Given the description of an element on the screen output the (x, y) to click on. 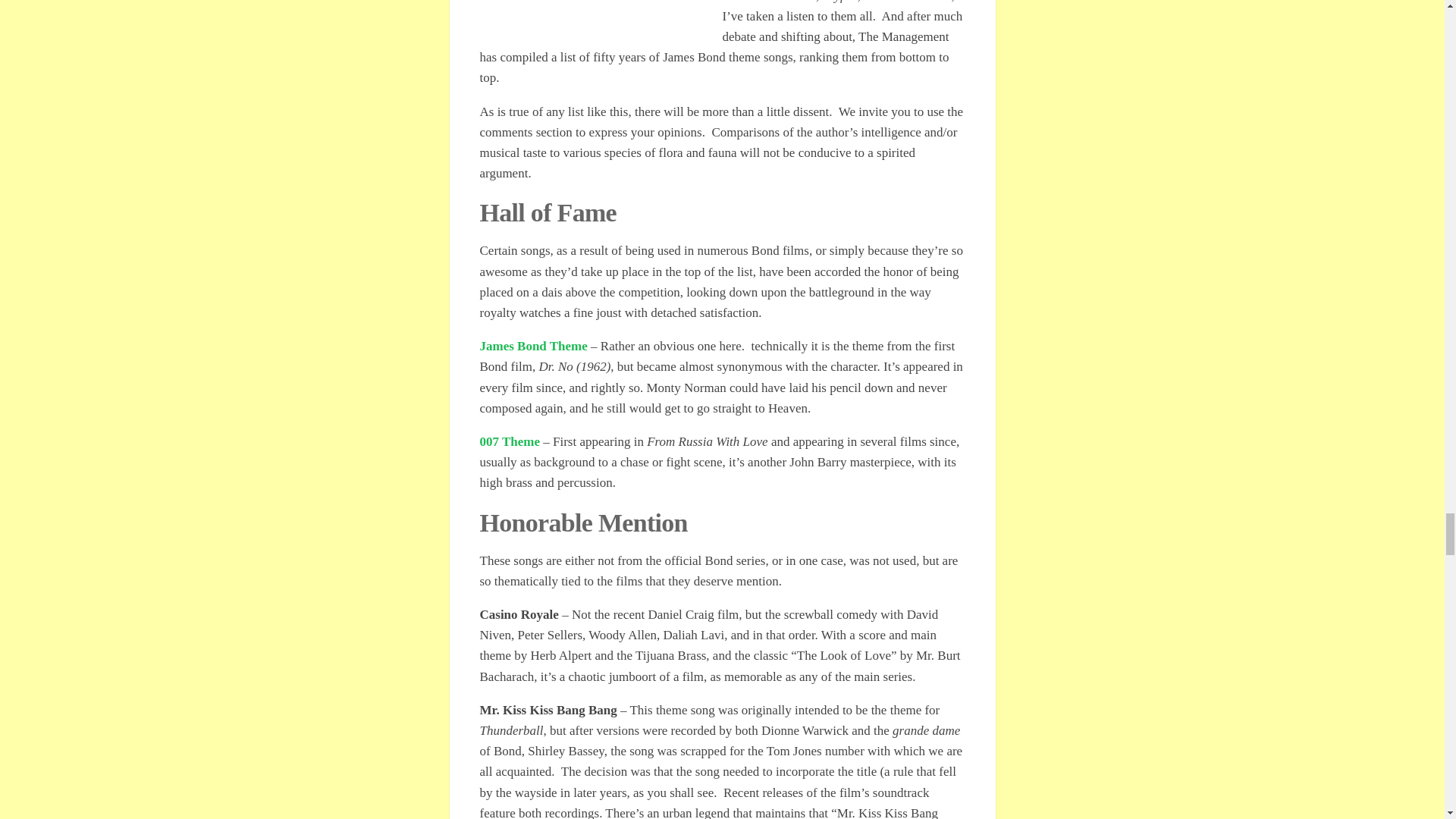
James Bond music (509, 441)
James Bond Theme (532, 345)
